Given the description of an element on the screen output the (x, y) to click on. 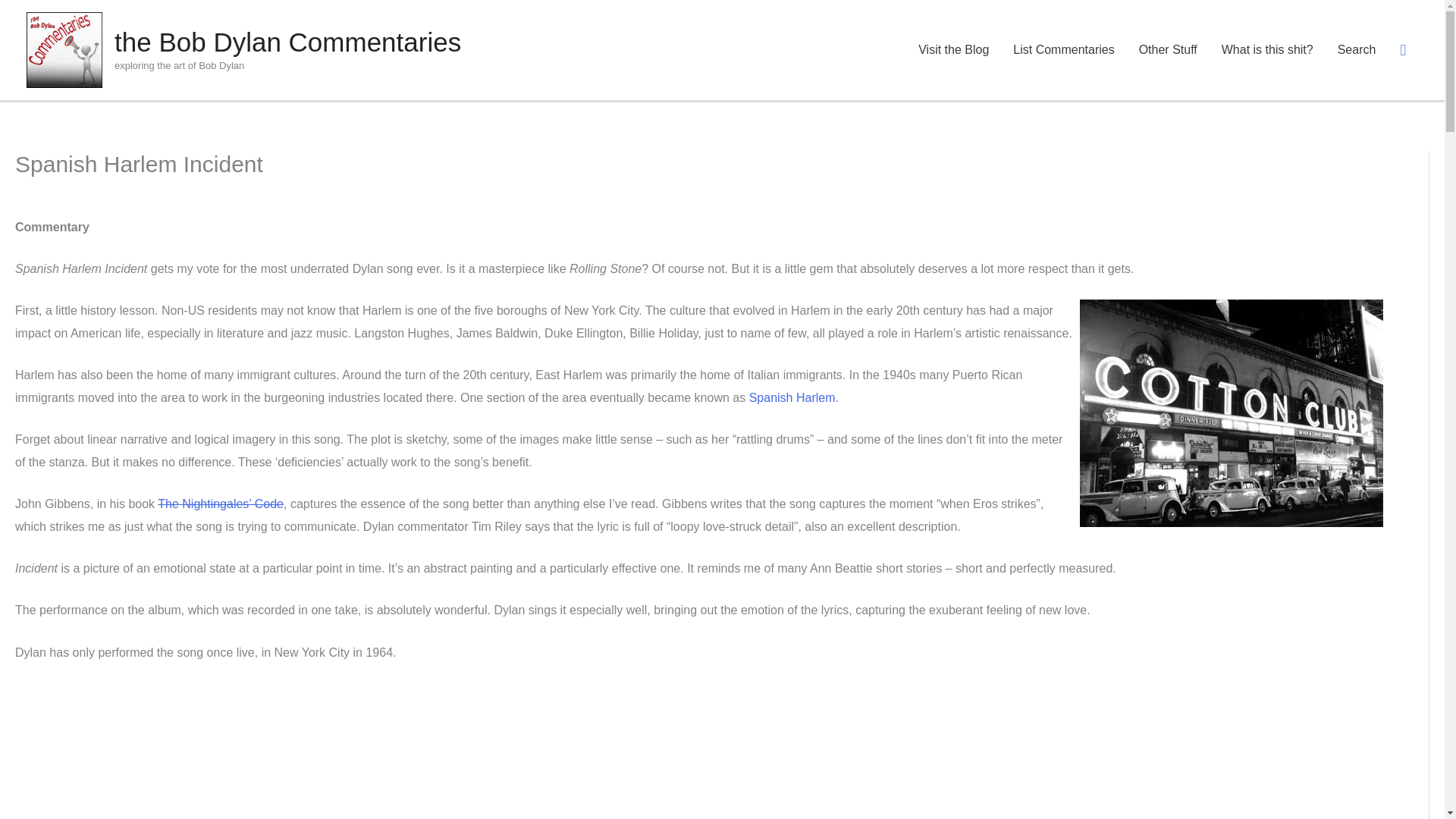
Search (48, 28)
the Bob Dylan Commentaries (288, 41)
What is this shit? (1266, 49)
Spanish Harlem (792, 397)
List Commentaries (1063, 49)
Visit the Blog (953, 49)
Spanish Harlem (792, 397)
The Nightingale's Code (220, 503)
